Given the description of an element on the screen output the (x, y) to click on. 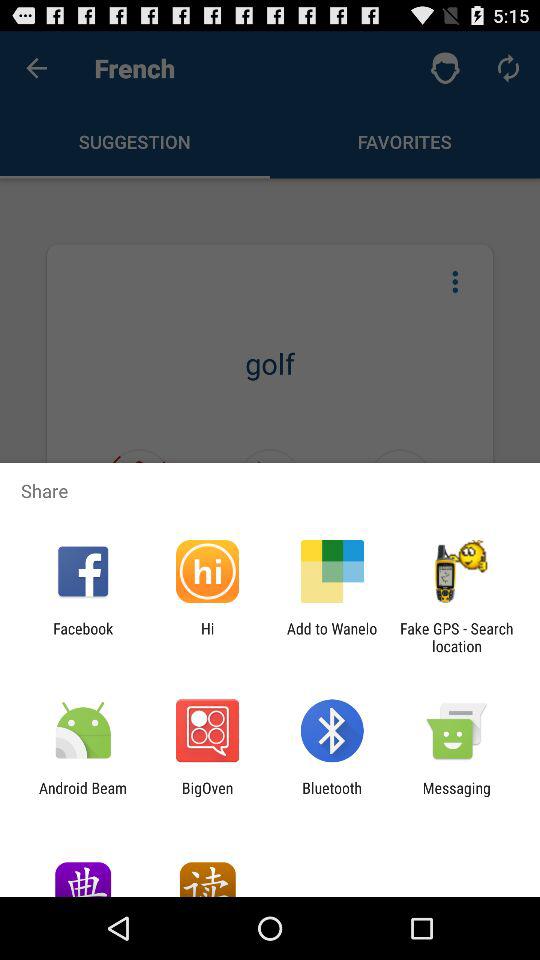
choose item to the left of bigoven (83, 796)
